Given the description of an element on the screen output the (x, y) to click on. 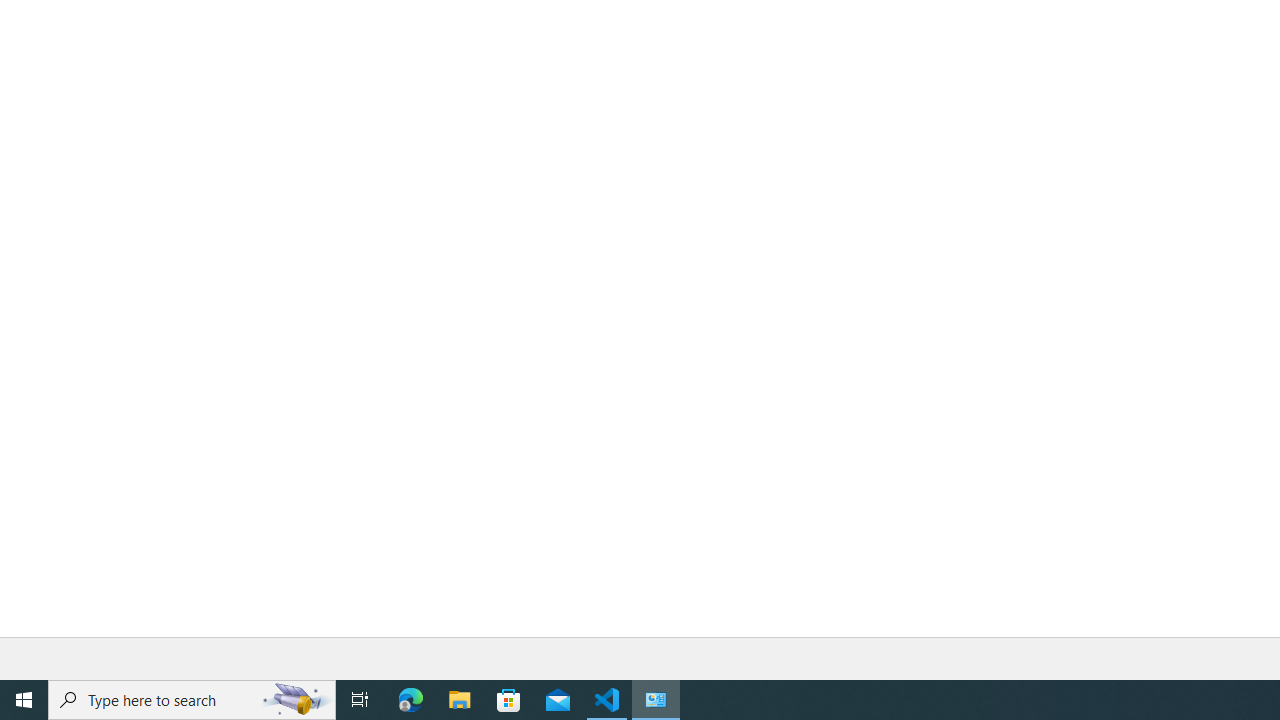
Microsoft Store (509, 699)
Control Panel - 1 running window (656, 699)
File Explorer (460, 699)
Visual Studio Code - 1 running window (607, 699)
Task View (359, 699)
Microsoft Edge (411, 699)
Search highlights icon opens search home window (295, 699)
Type here to search (191, 699)
Start (24, 699)
